Given the description of an element on the screen output the (x, y) to click on. 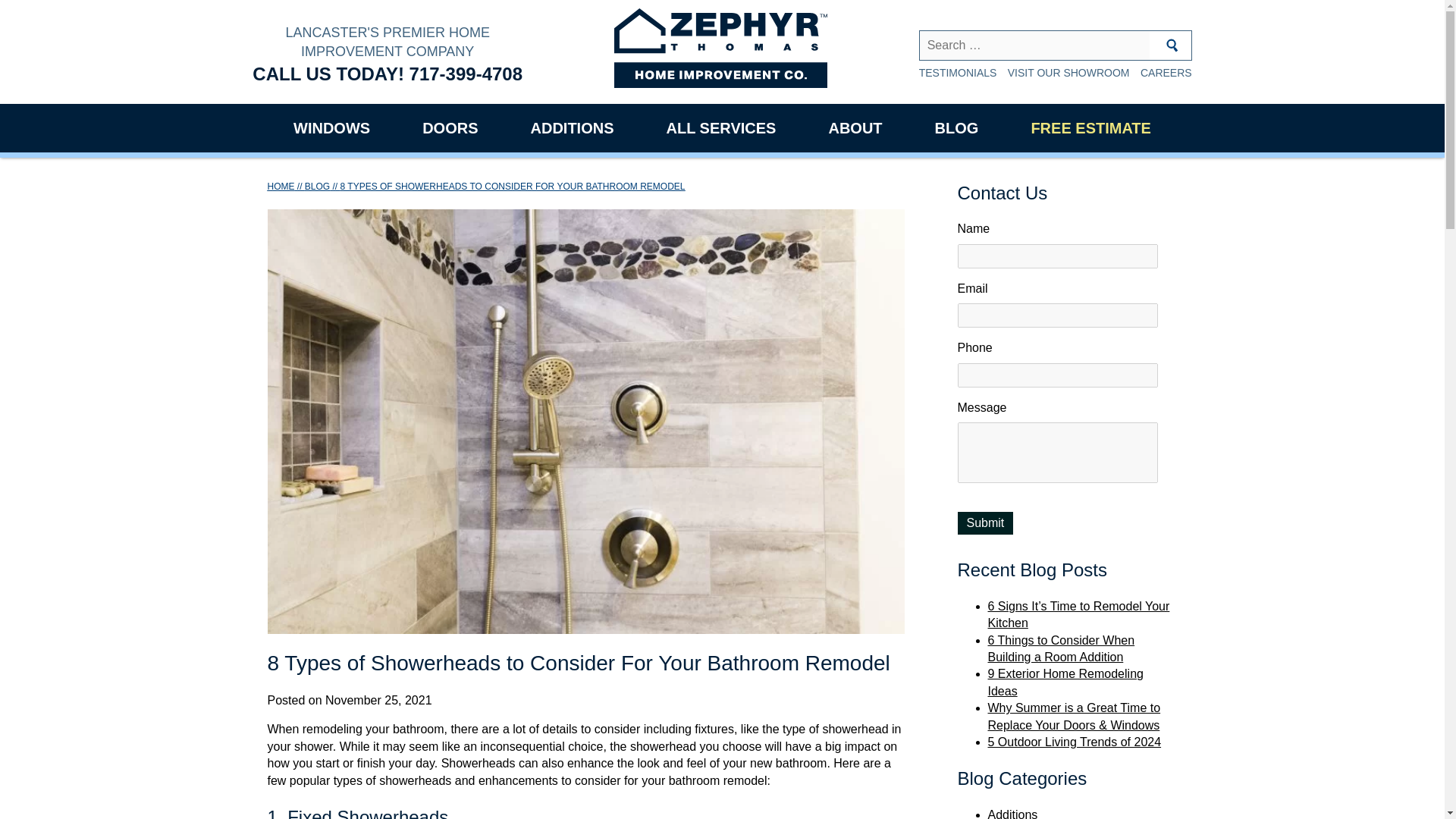
VISIT OUR SHOWROOM (1068, 72)
Search (1172, 45)
ALL SERVICES (721, 128)
Search (1172, 45)
Search (1172, 45)
TESTIMONIALS (957, 72)
CAREERS (1166, 72)
DOORS (449, 128)
WINDOWS (331, 128)
ADDITIONS (571, 128)
Submit (984, 522)
CALL US TODAY! 717-399-4708 (386, 73)
